Given the description of an element on the screen output the (x, y) to click on. 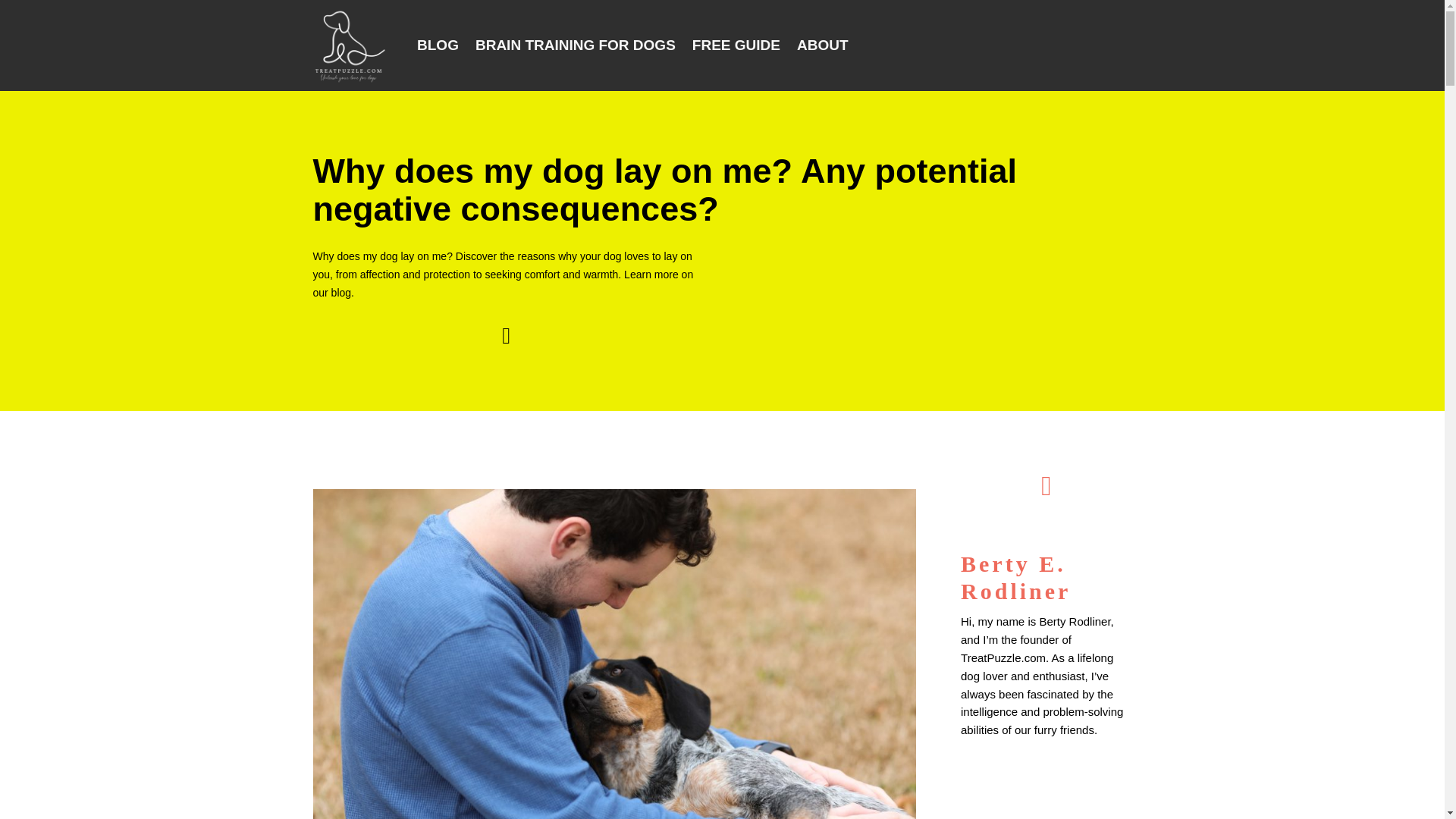
Read more (988, 758)
FREE GUIDE (736, 45)
BRAIN TRAINING FOR DOGS (575, 45)
